Given the description of an element on the screen output the (x, y) to click on. 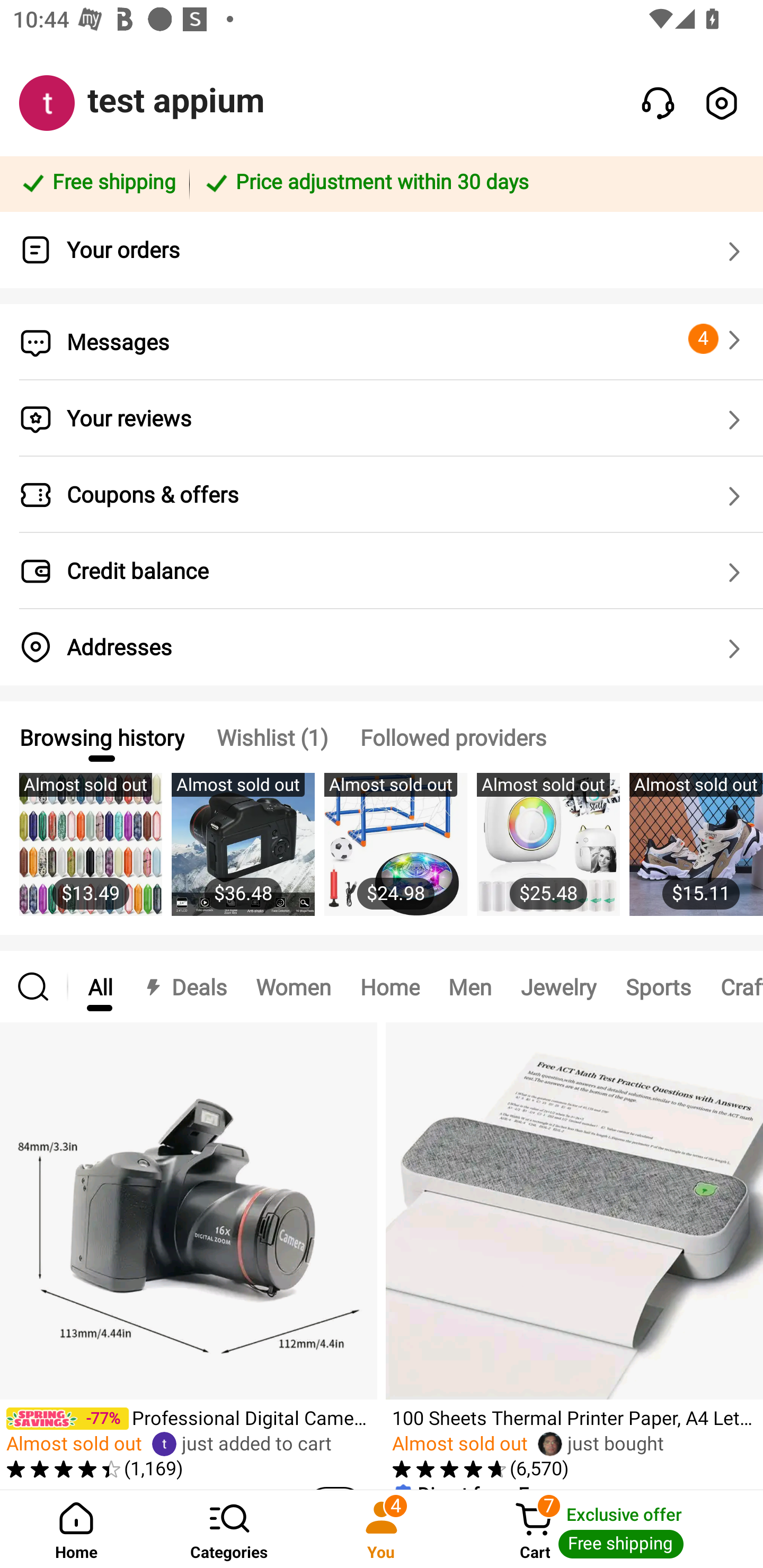
test appium (175, 100)
Free shipping (97, 183)
Price adjustment within 30 days (472, 183)
Your orders (381, 249)
Messages 4 (381, 342)
4 (717, 339)
Your reviews (381, 418)
Coupons & offers (381, 494)
Credit balance (381, 571)
Addresses (381, 647)
Browsing history (101, 736)
Wishlist (1) (271, 736)
Followed providers (453, 736)
Almost sold out $13.49 (90, 853)
Almost sold out $36.48 (242, 853)
Almost sold out $24.98 (395, 853)
Almost sold out $25.48 (547, 853)
Almost sold out $15.11 (696, 853)
All (99, 986)
Deals Deals Deals (183, 986)
Women (293, 986)
Home (389, 986)
Men (469, 986)
Jewelry (558, 986)
Sports (658, 986)
Home (76, 1528)
Categories (228, 1528)
You 4 You (381, 1528)
Cart 7 Cart Exclusive offer (610, 1528)
